Given the description of an element on the screen output the (x, y) to click on. 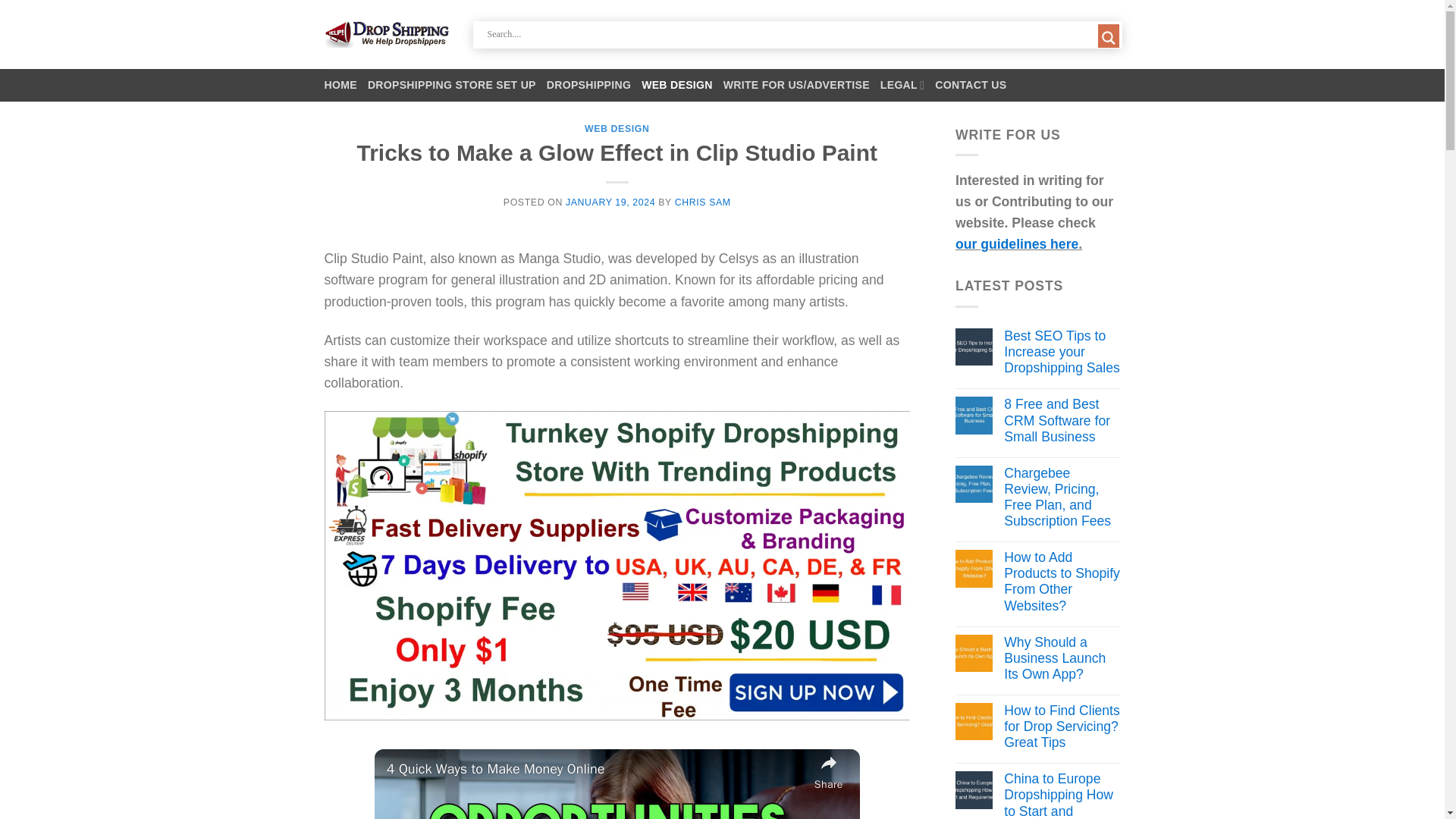
CHRIS SAM (702, 202)
Share (828, 771)
JANUARY 19, 2024 (610, 202)
4 Quick Ways to Make Money Online (596, 769)
Dropshippinghelps - We Help Dropshippers (386, 34)
CONTACT US (970, 84)
share (828, 771)
DROPSHIPPING (588, 84)
DROPSHIPPING STORE SET UP (451, 84)
WEB DESIGN (617, 128)
HOME (340, 84)
LEGAL (902, 84)
WEB DESIGN (677, 84)
